Given the description of an element on the screen output the (x, y) to click on. 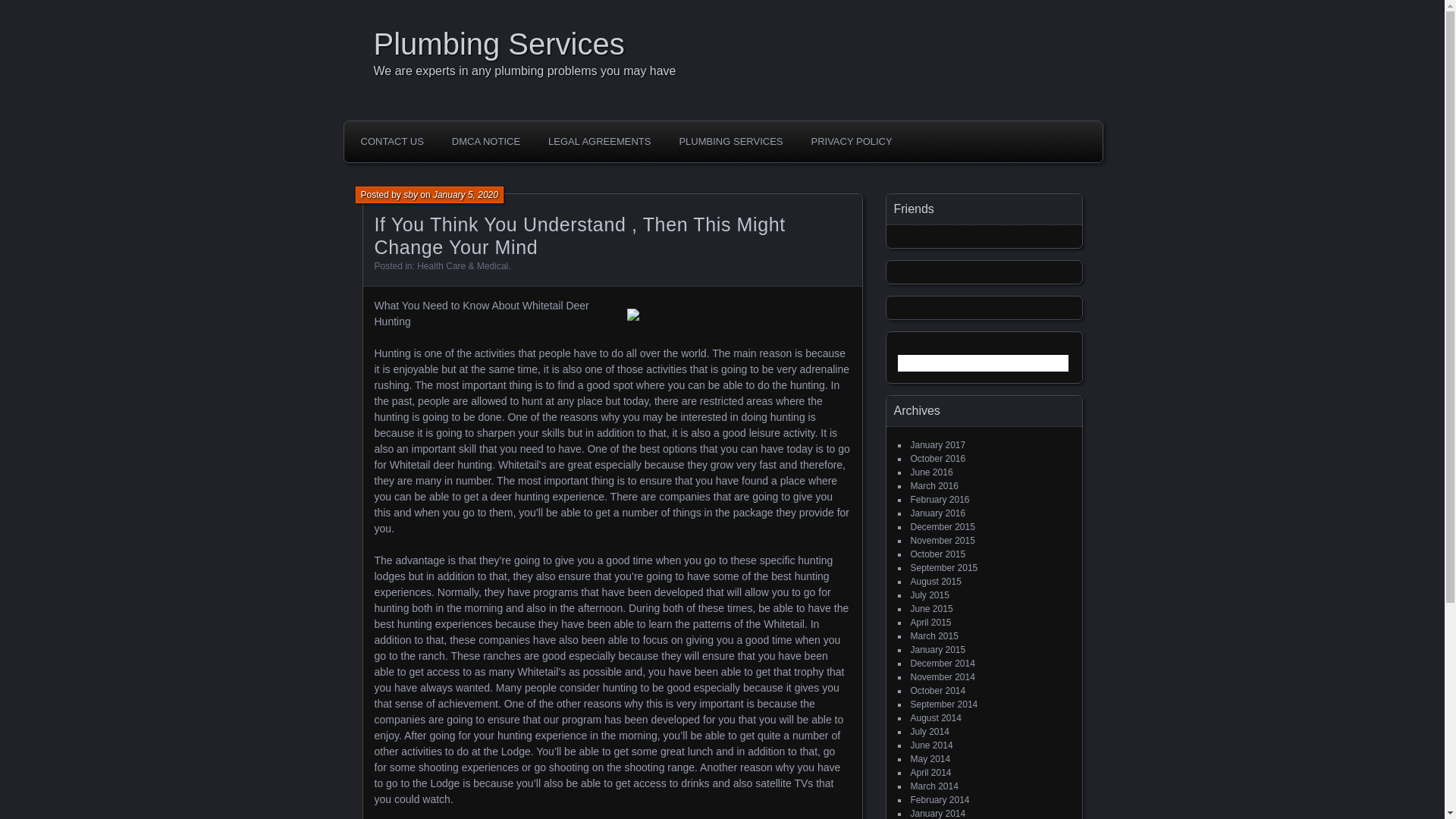
July 2015 (929, 594)
PLUMBING SERVICES (729, 141)
July 2014 (929, 731)
November 2015 (942, 540)
PRIVACY POLICY (850, 141)
January 5, 2020 (464, 194)
November 2014 (942, 676)
May 2014 (930, 758)
October 2014 (937, 690)
LEGAL AGREEMENTS (599, 141)
